Given the description of an element on the screen output the (x, y) to click on. 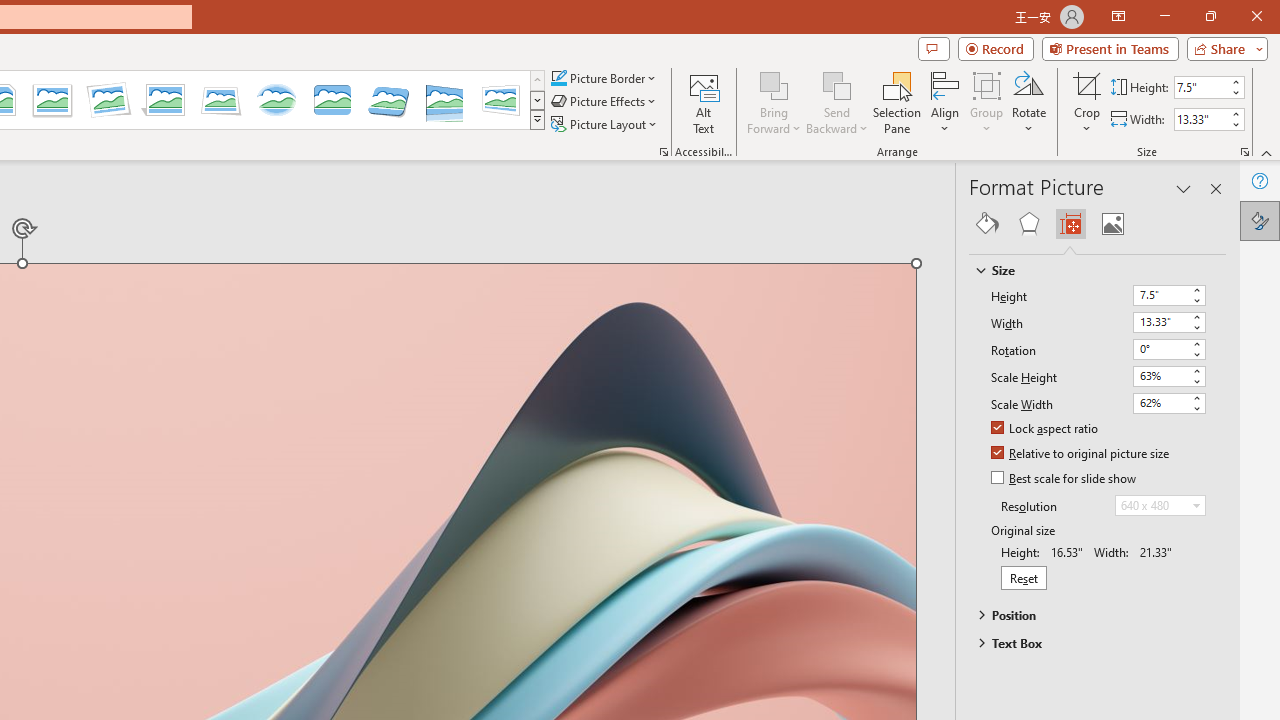
Rotation (1160, 348)
Fill & Line (987, 223)
Picture Layout (605, 124)
More Options (1087, 121)
Size & Properties (1070, 223)
Scale Height (1168, 376)
Task Pane Options (1183, 188)
Lock aspect ratio (1046, 429)
Crop (1087, 102)
Close pane (1215, 188)
Size (1088, 269)
Row Down (537, 100)
Size and Position... (1244, 151)
